Given the description of an element on the screen output the (x, y) to click on. 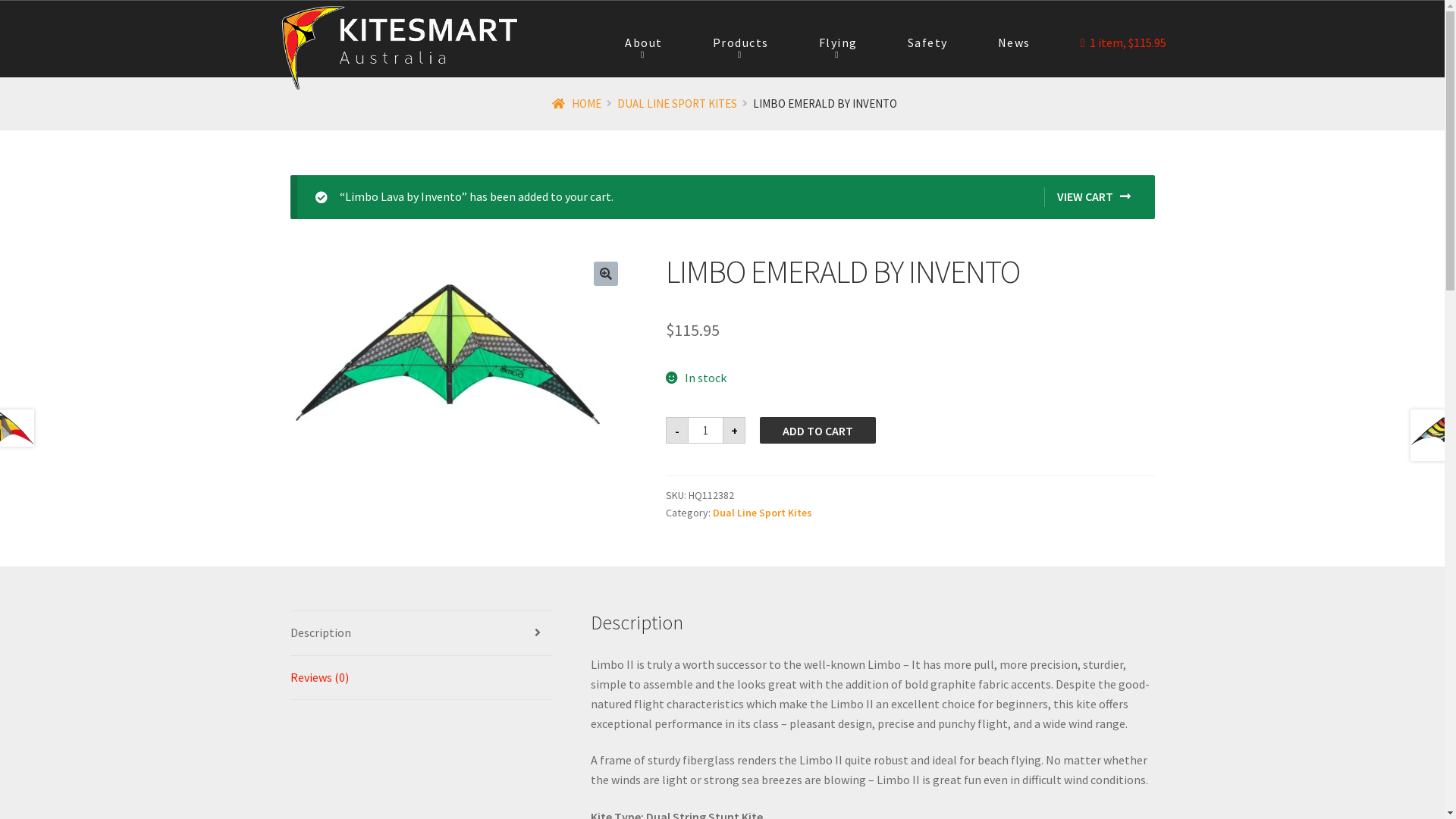
DUAL LINE SPORT KITES Element type: text (677, 103)
Reviews (0) Element type: text (420, 677)
Qty Element type: hover (705, 430)
About Element type: text (643, 43)
News Element type: text (1013, 43)
VIEW CART Element type: text (1087, 197)
  1 item, $115.95 Element type: text (1123, 43)
Flying Element type: text (838, 43)
Safety Element type: text (927, 43)
389.jpg Element type: hover (447, 369)
+ Element type: text (733, 430)
HOME Element type: text (576, 103)
Description Element type: text (420, 633)
Dual Line Sport Kites Element type: text (762, 512)
- Element type: text (676, 430)
ADD TO CART Element type: text (817, 430)
Products Element type: text (740, 43)
